Given the description of an element on the screen output the (x, y) to click on. 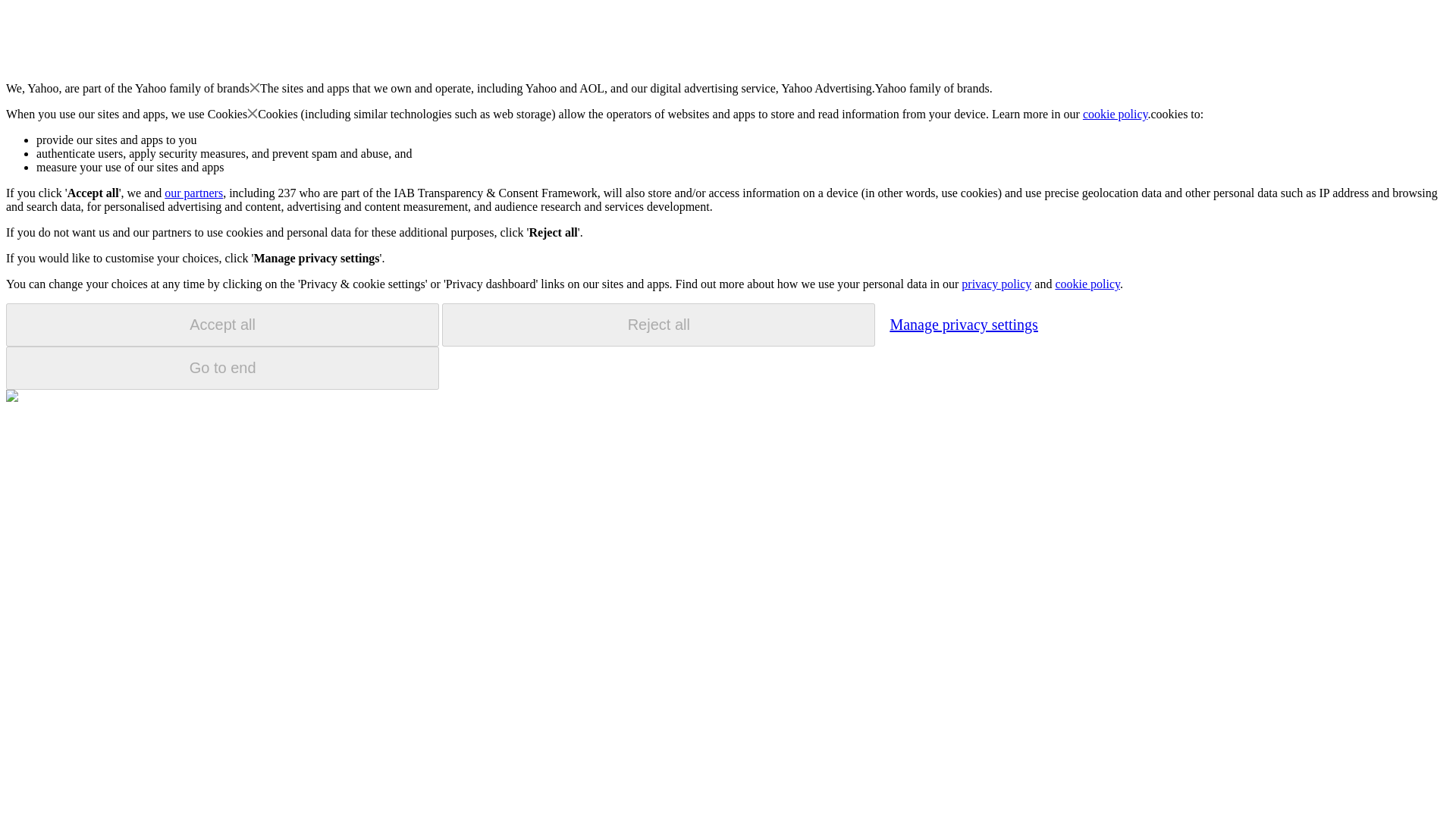
Go to end (222, 367)
Accept all (222, 324)
privacy policy (995, 283)
our partners (193, 192)
cookie policy (1086, 283)
Reject all (658, 324)
Manage privacy settings (963, 323)
cookie policy (1115, 113)
